Given the description of an element on the screen output the (x, y) to click on. 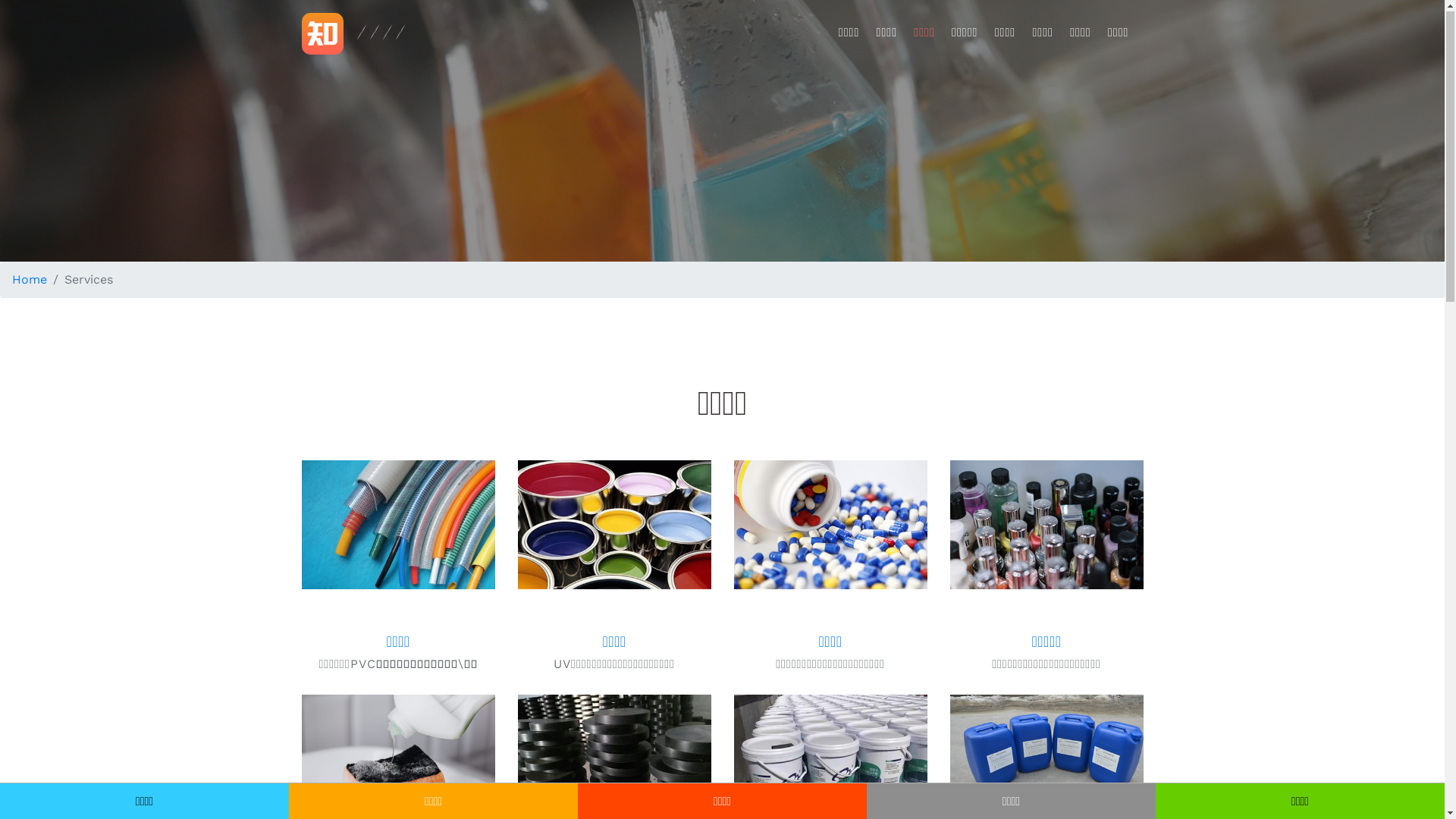
Home Element type: text (29, 280)
